Given the description of an element on the screen output the (x, y) to click on. 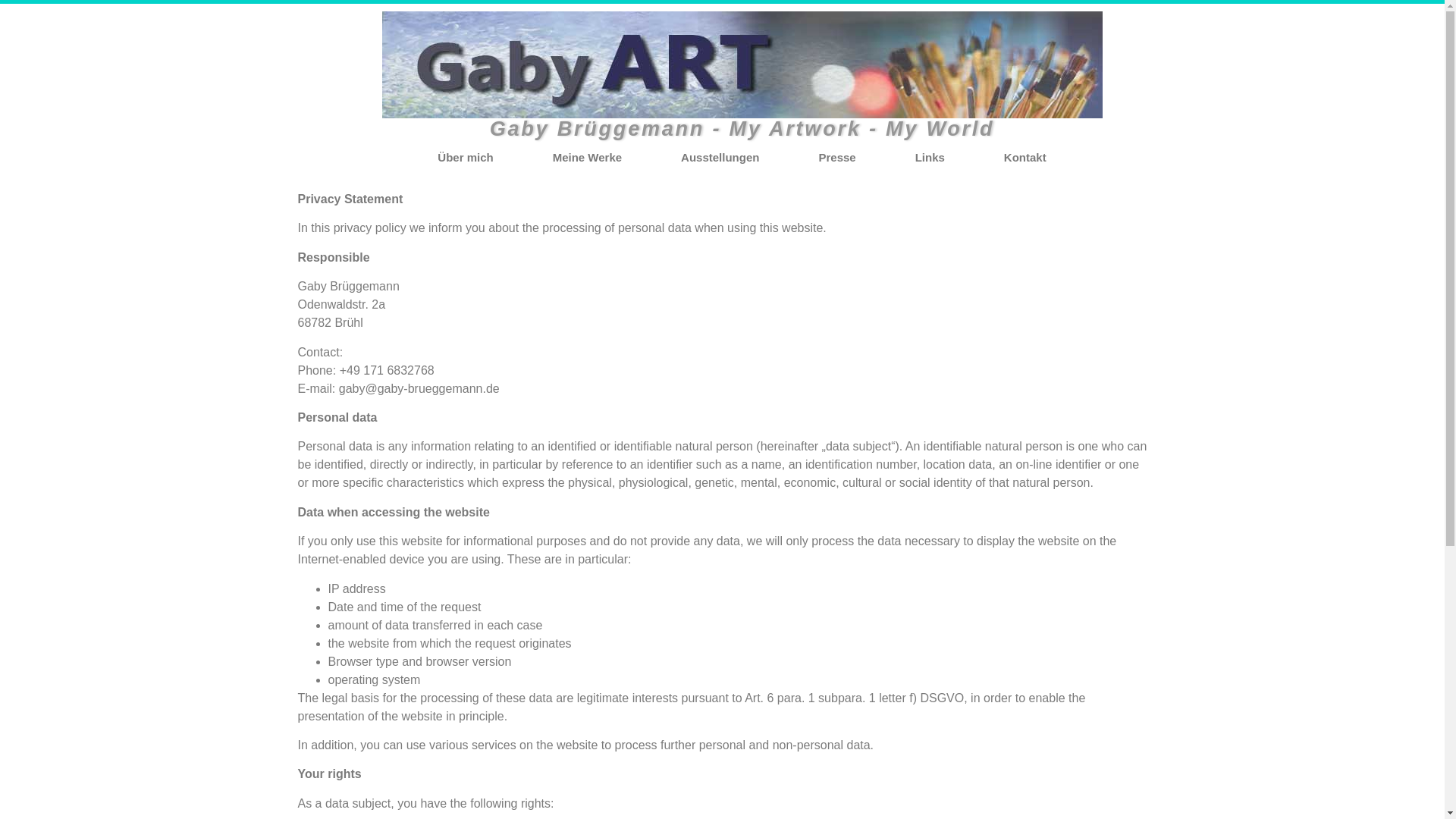
Ausstellungen (719, 157)
Kontakt (1024, 157)
Meine Werke (586, 157)
Presse (837, 157)
Links (929, 157)
